Given the description of an element on the screen output the (x, y) to click on. 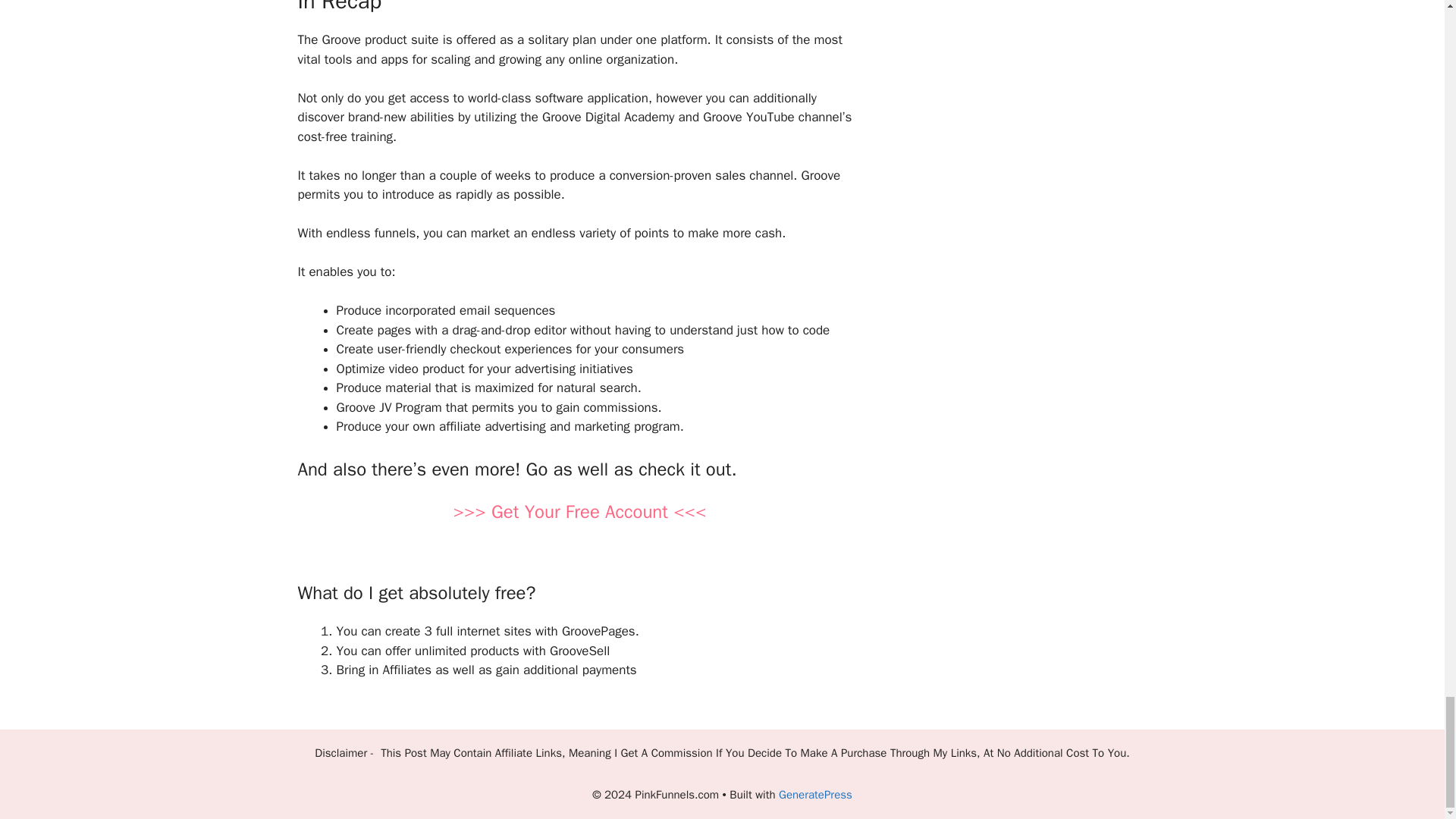
GeneratePress (814, 794)
